Given the description of an element on the screen output the (x, y) to click on. 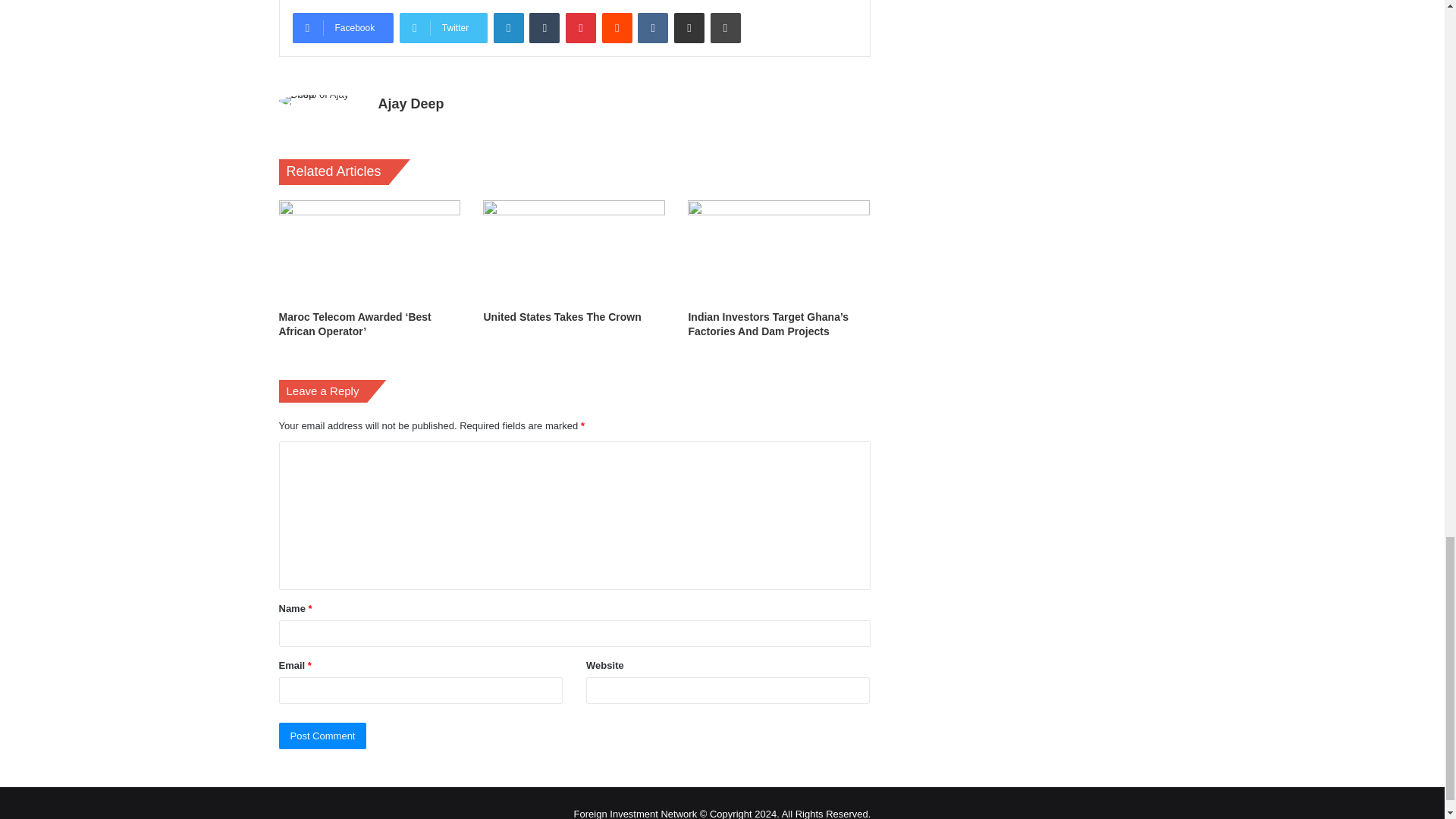
Share via Email (689, 28)
Reddit (616, 28)
Twitter (442, 28)
Post Comment (322, 735)
Facebook (343, 28)
Facebook (343, 28)
VKontakte (652, 28)
Twitter (442, 28)
LinkedIn (508, 28)
Pinterest (580, 28)
Print (725, 28)
Tumblr (544, 28)
